Given the description of an element on the screen output the (x, y) to click on. 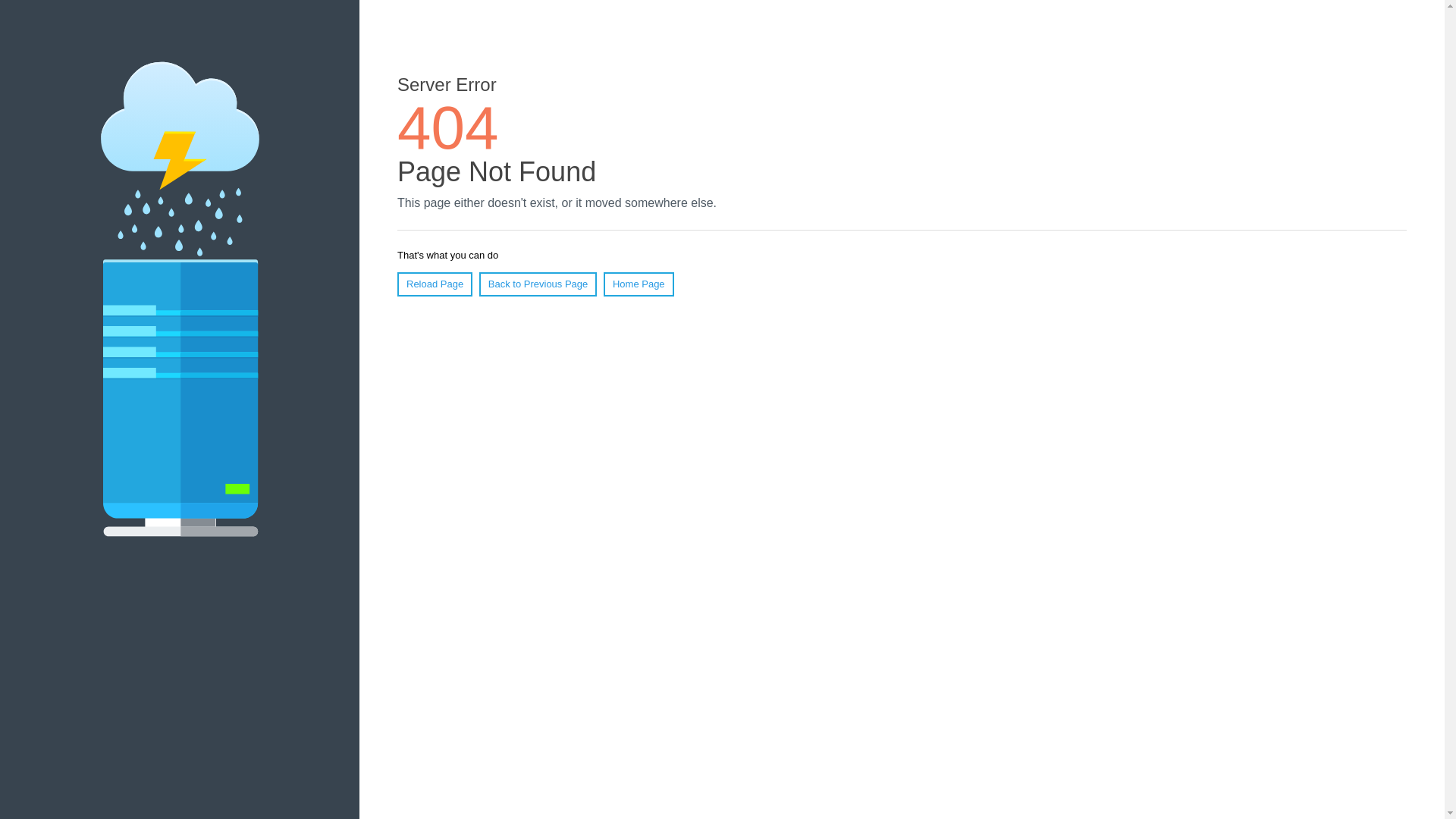
Home Page Element type: text (638, 284)
Back to Previous Page Element type: text (538, 284)
Reload Page Element type: text (434, 284)
